Given the description of an element on the screen output the (x, y) to click on. 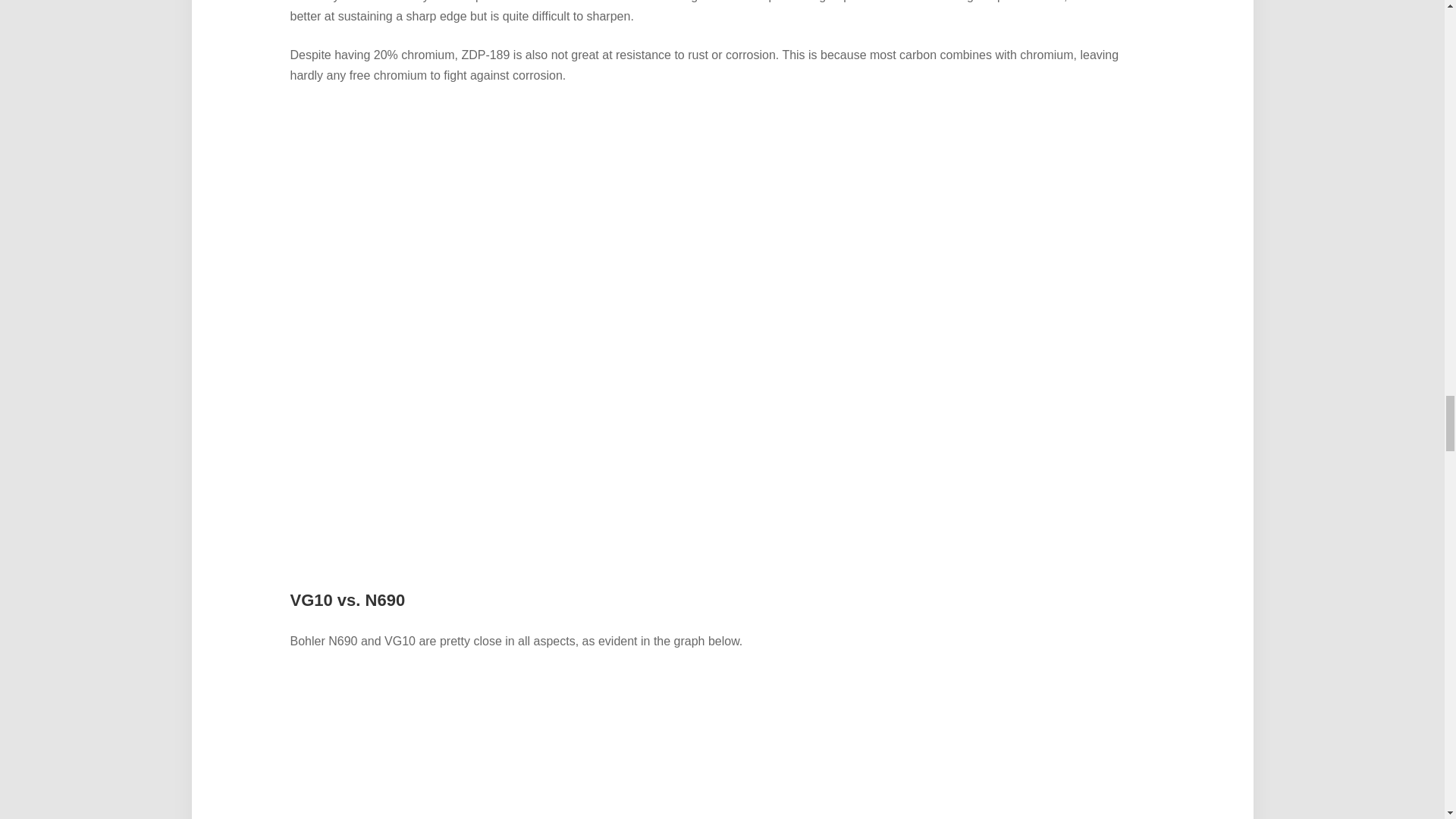
ZDP-189 (634, 1)
VG10 Steel: Is it a Good Knife Steel? 10 (721, 744)
